Given the description of an element on the screen output the (x, y) to click on. 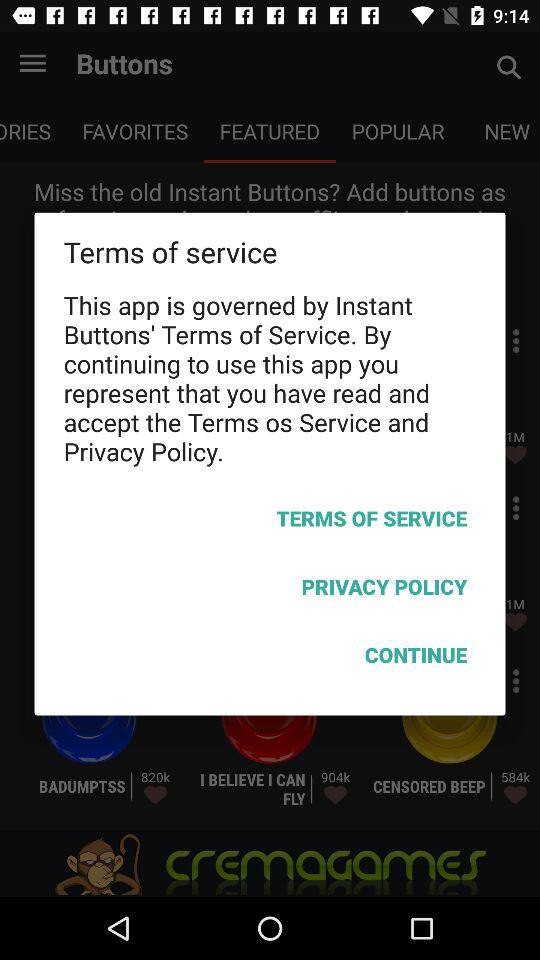
swipe to the continue (269, 658)
